Given the description of an element on the screen output the (x, y) to click on. 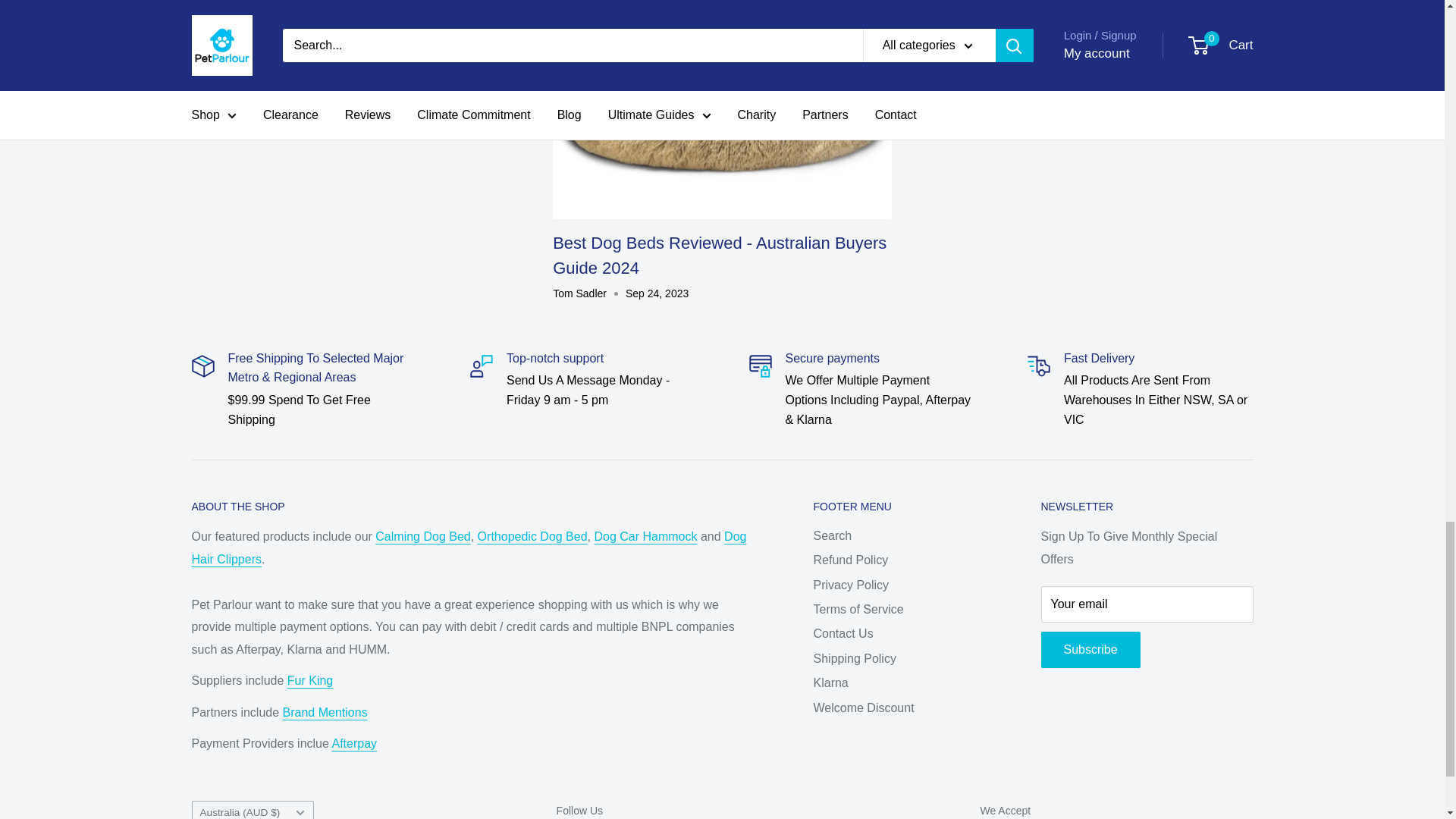
Calming Dog Bed (422, 535)
Dog Hair Clippers (467, 547)
Orthopedic Dog Bed (532, 535)
Dog Car Hammock (645, 535)
